Given the description of an element on the screen output the (x, y) to click on. 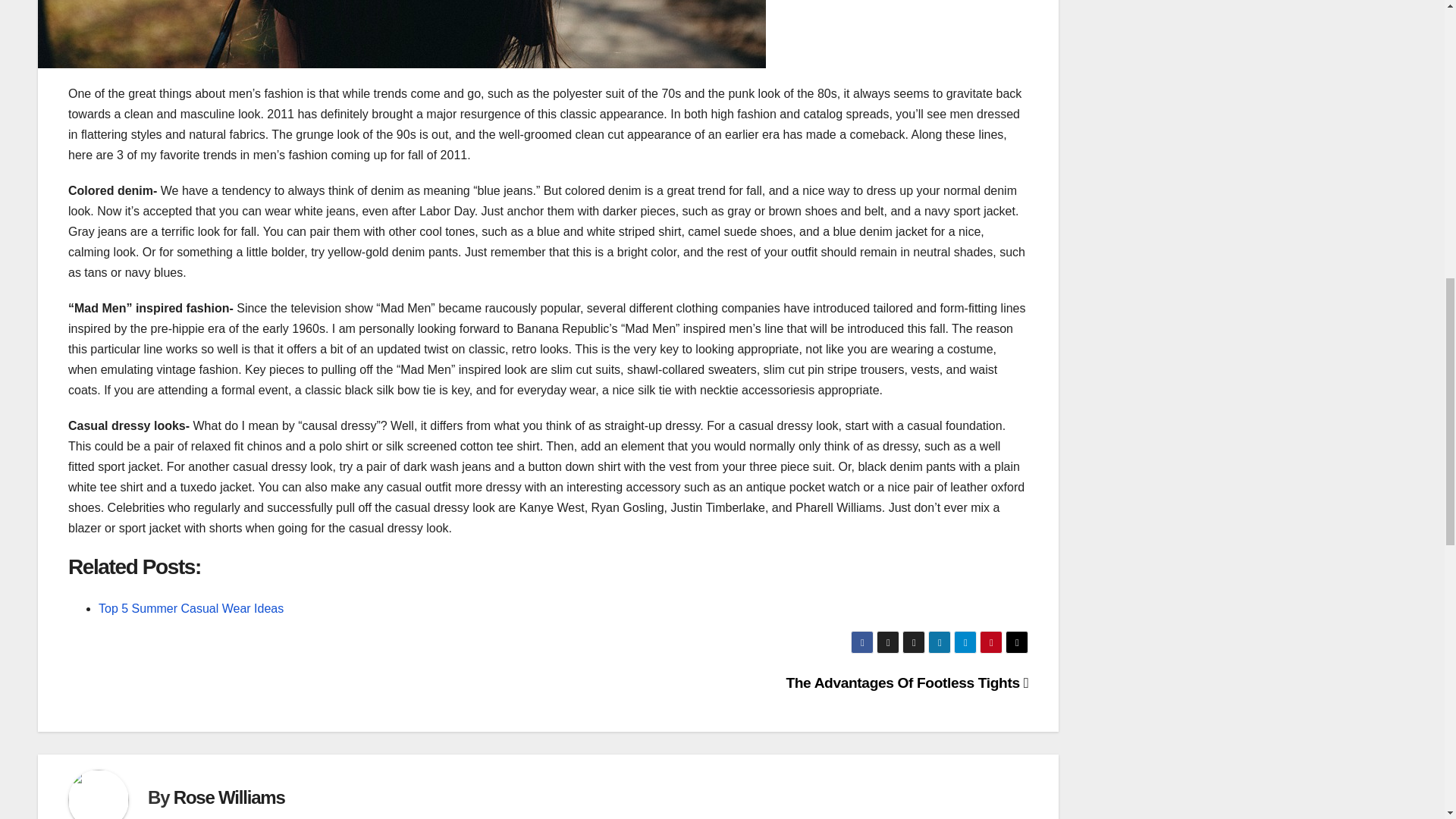
The Advantages Of Footless Tights (906, 682)
Rose Williams (229, 797)
Top 5 Summer Casual Wear Ideas (191, 608)
